Given the description of an element on the screen output the (x, y) to click on. 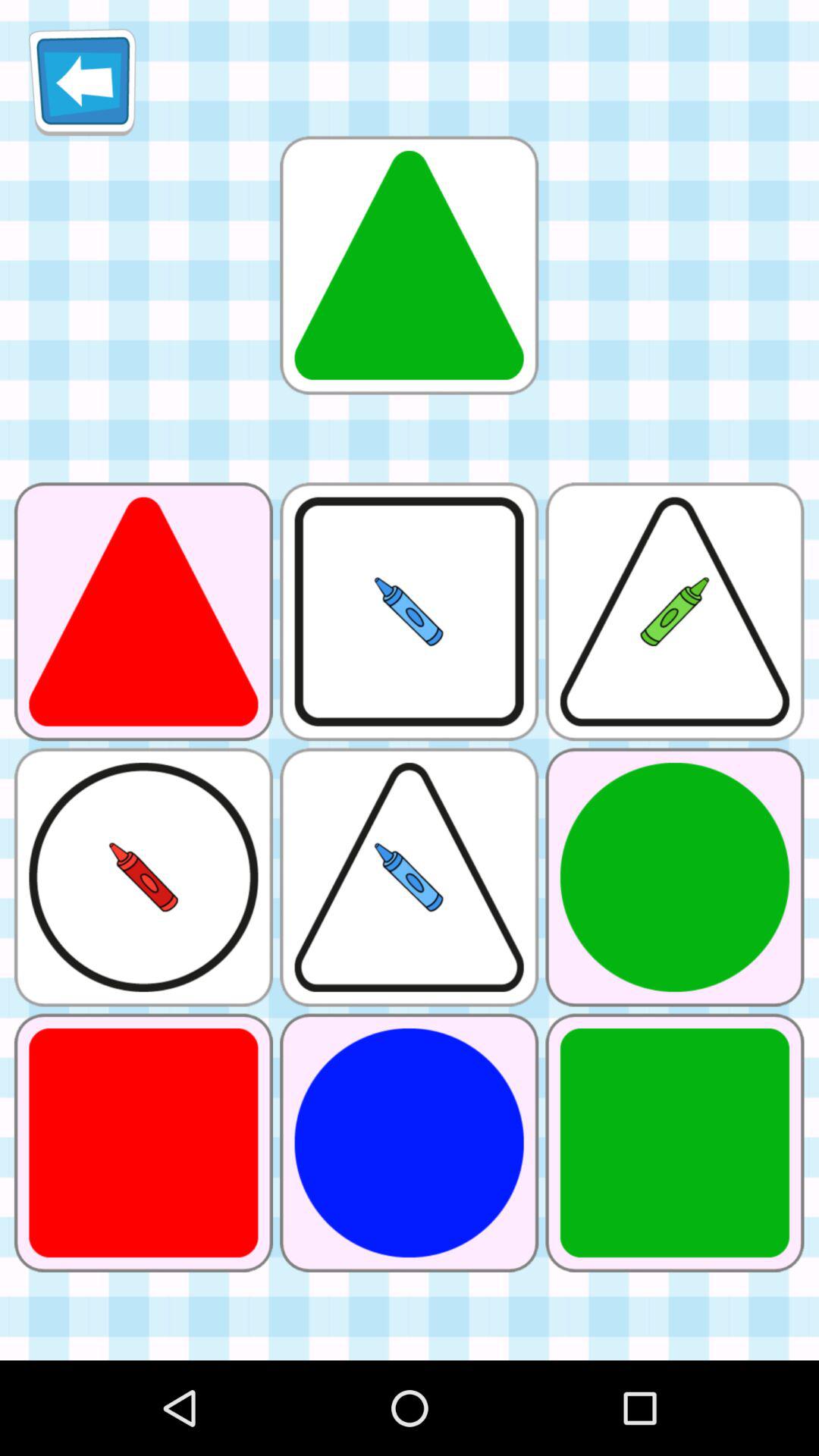
select green triangle (409, 265)
